Given the description of an element on the screen output the (x, y) to click on. 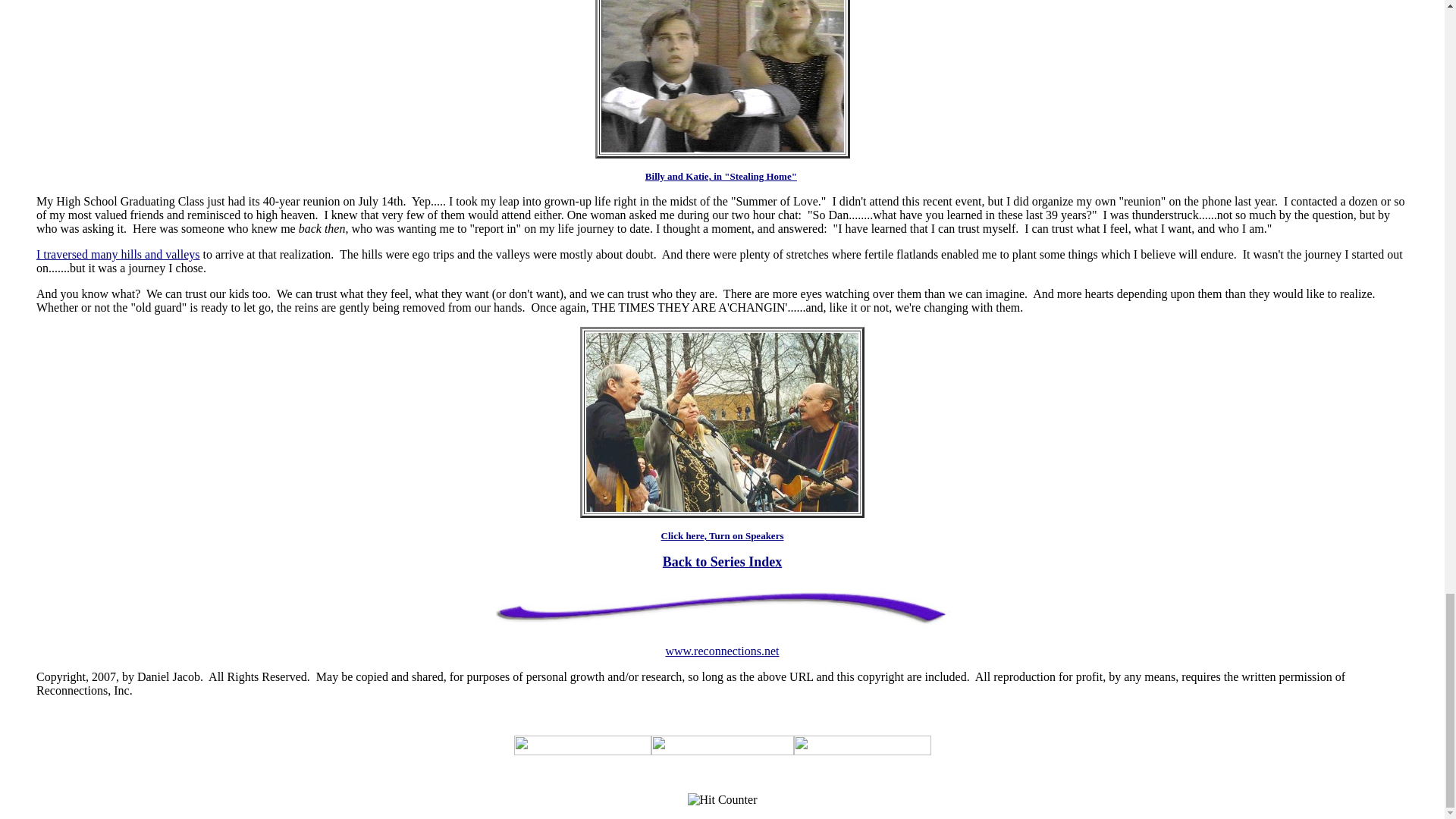
Billy and Katie, in "Stealing Home" (720, 175)
Back to Series Index (722, 561)
I traversed many hills and valleys (118, 254)
Click here, Turn on Speakers (722, 535)
www.reconnections.net (721, 650)
